Given the description of an element on the screen output the (x, y) to click on. 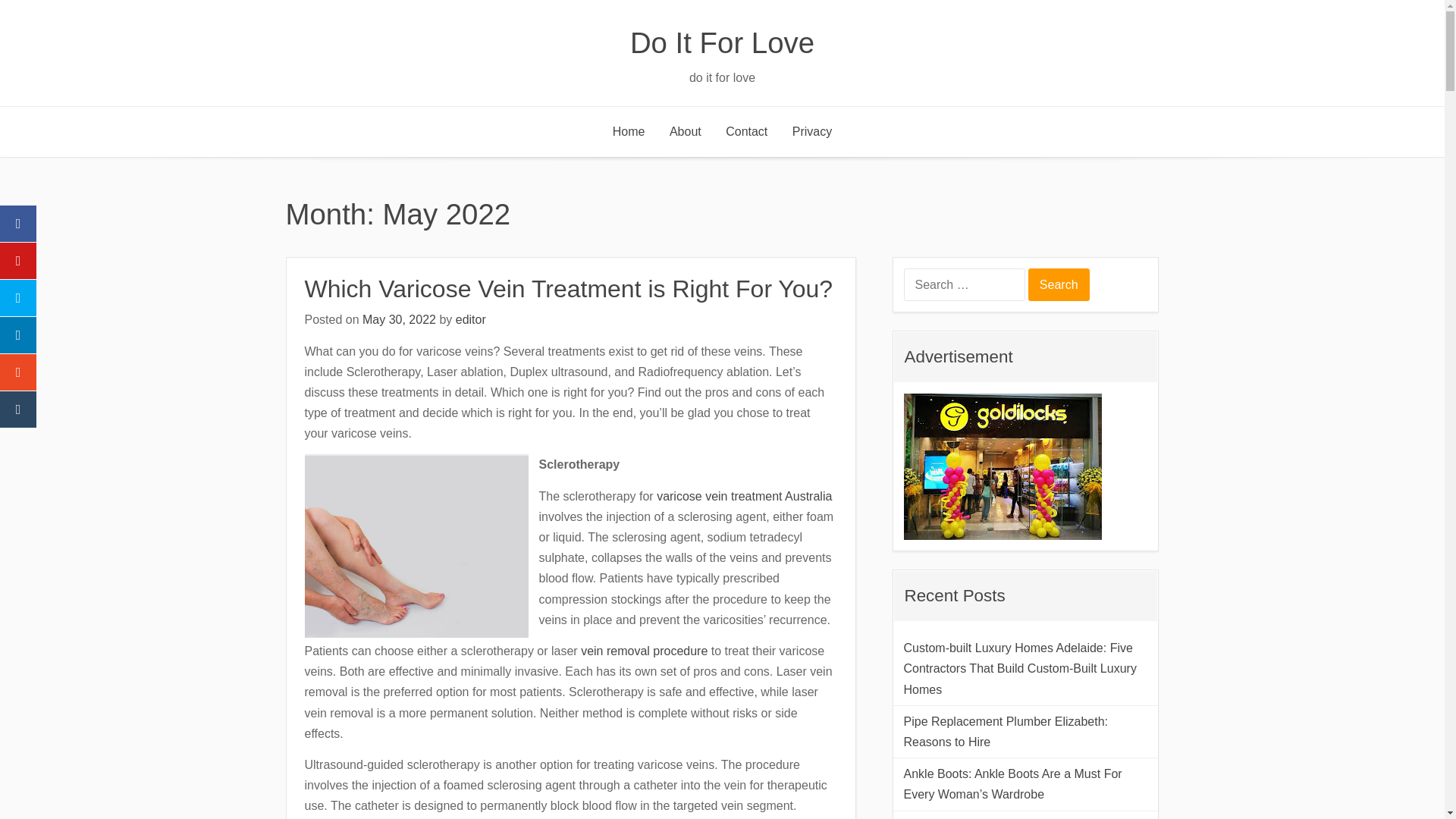
varicose vein treatment Australia (743, 495)
Which Varicose Vein Treatment is Right For You? (568, 288)
Search (1058, 284)
Privacy (812, 131)
About (685, 131)
Do It For Love (721, 42)
Contact (745, 131)
Search (1058, 284)
editor (470, 318)
Search (1058, 284)
vein removal procedure (643, 650)
Home (629, 131)
May 30, 2022 (398, 318)
